Given the description of an element on the screen output the (x, y) to click on. 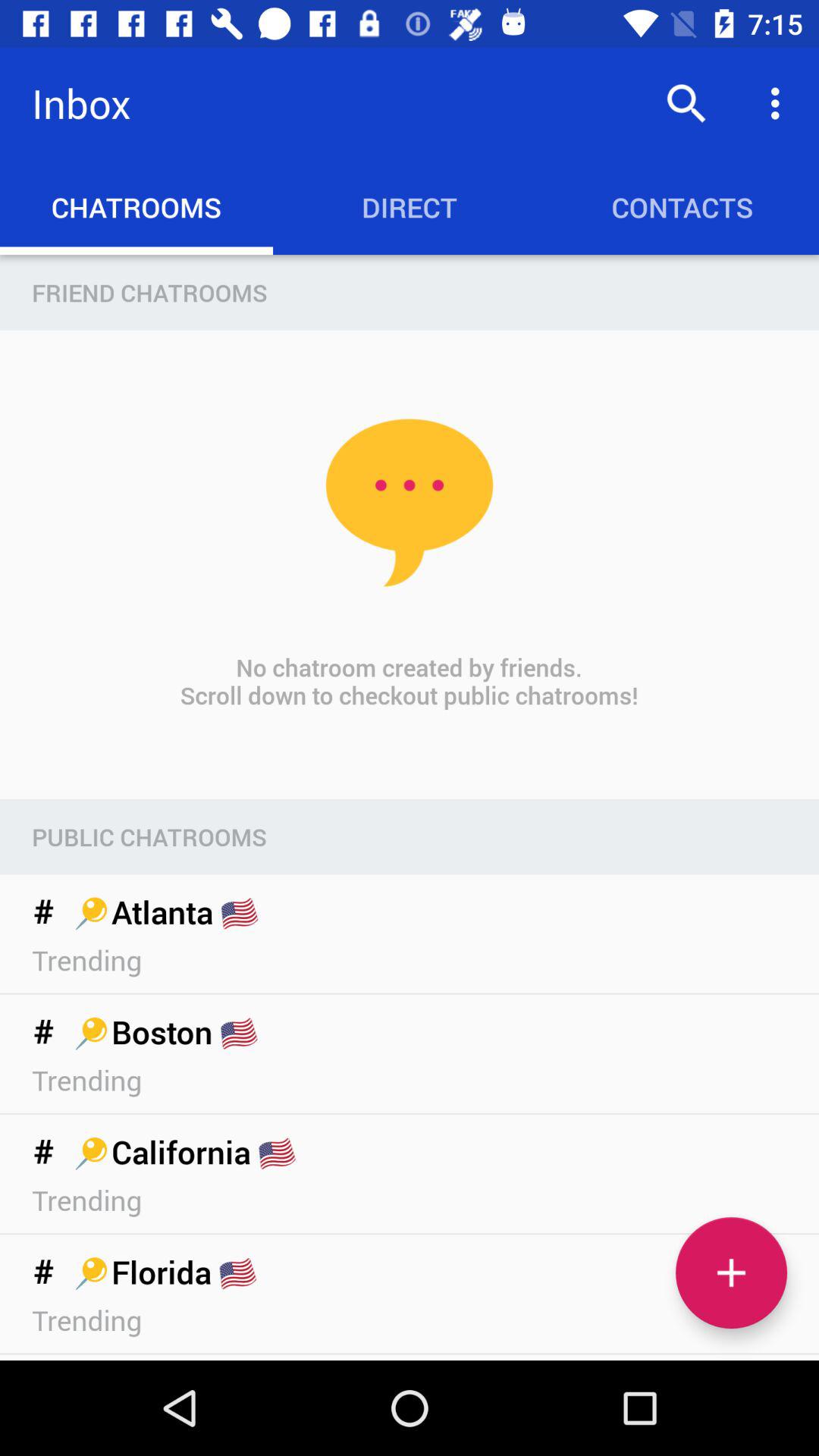
click item at the bottom right corner (731, 1272)
